Given the description of an element on the screen output the (x, y) to click on. 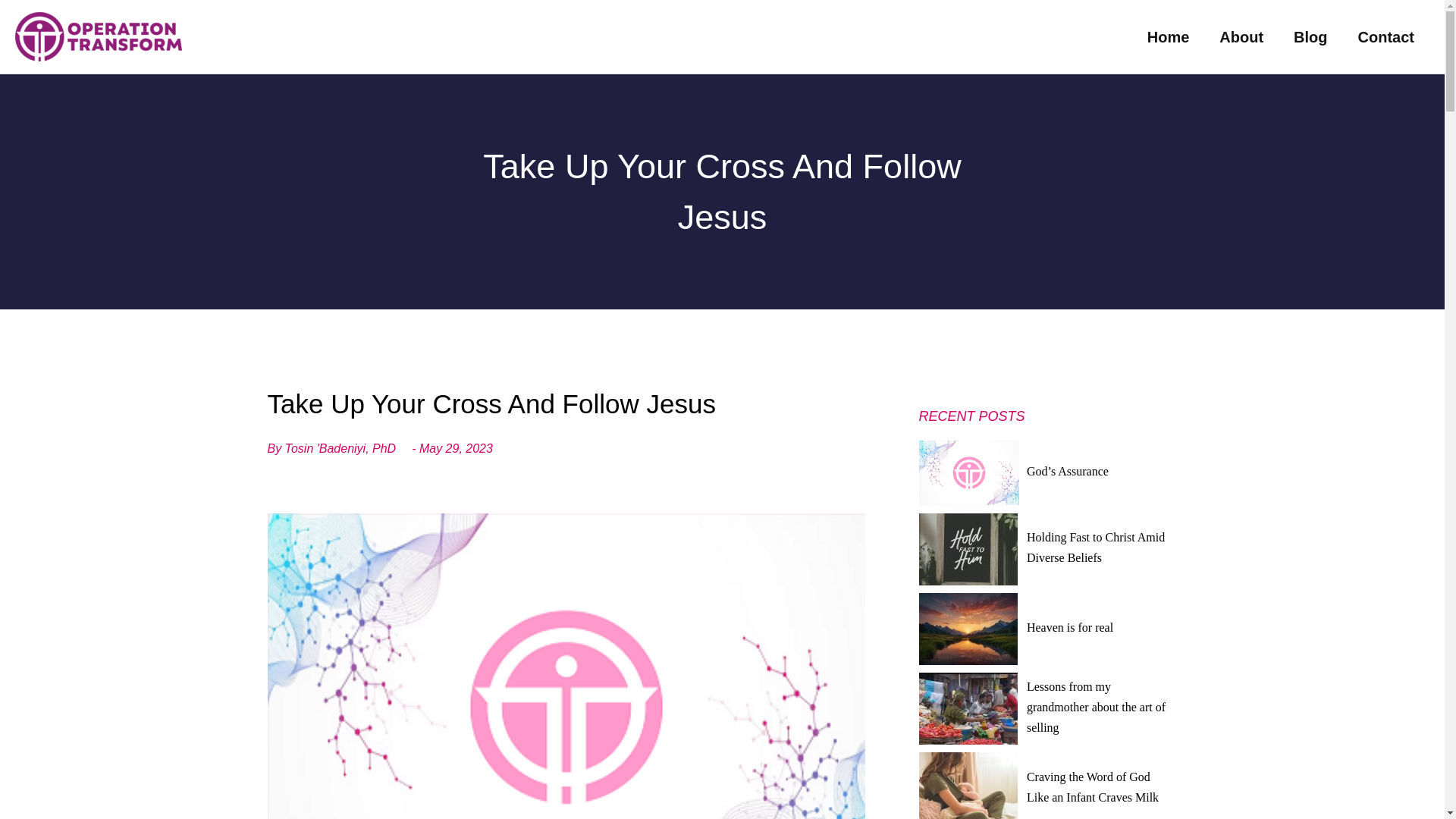
About (1241, 35)
Contact (1385, 35)
Craving the Word of God Like an Infant Craves Milk (1092, 786)
- May 29, 2023 (452, 455)
Blog (1310, 35)
Heaven is for real (1069, 626)
Home (1168, 35)
Holding Fast to Christ Amid Diverse Beliefs (1095, 547)
Lessons from my grandmother about the art of selling  (1096, 706)
